Given the description of an element on the screen output the (x, y) to click on. 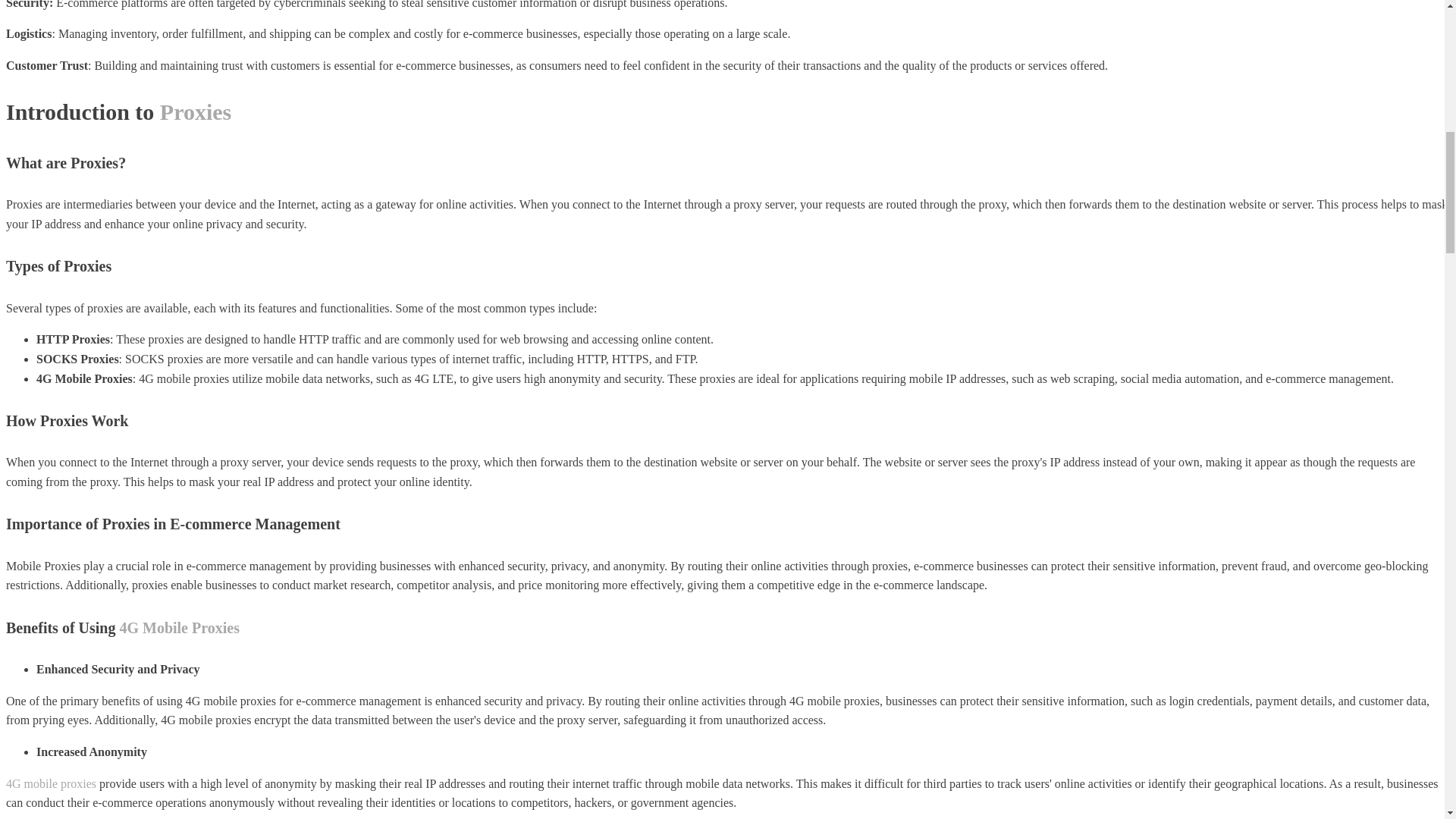
4G Mobile Proxies (179, 627)
4G mobile proxies (50, 783)
Proxies (195, 111)
